Given the description of an element on the screen output the (x, y) to click on. 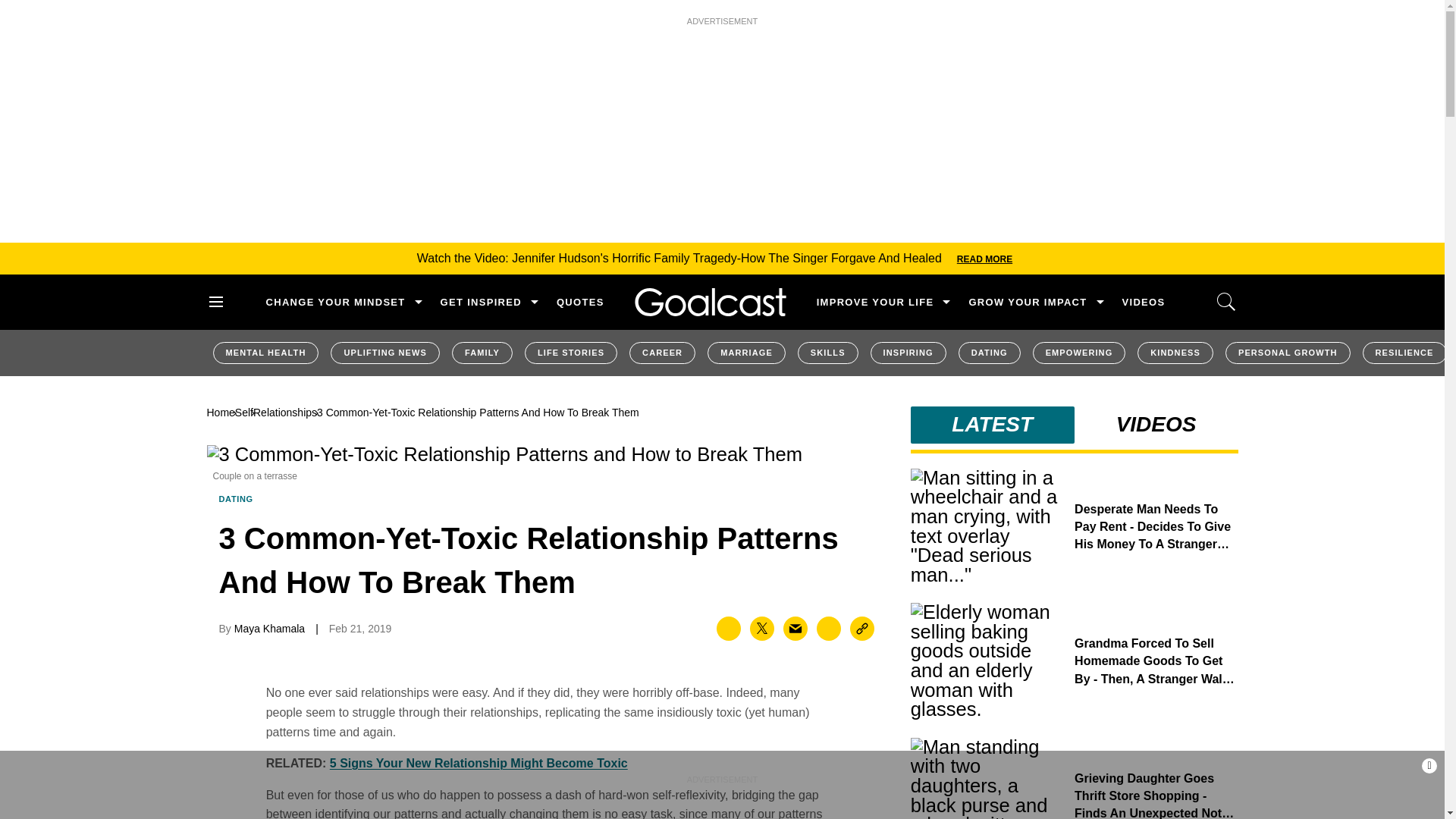
GET INSPIRED (481, 301)
IMPROVE YOUR LIFE (875, 301)
VIDEOS (1144, 301)
GROW YOUR IMPACT (1027, 301)
QUOTES (580, 301)
CHANGE YOUR MINDSET (334, 301)
Copy this link to clipboard (862, 628)
